Given the description of an element on the screen output the (x, y) to click on. 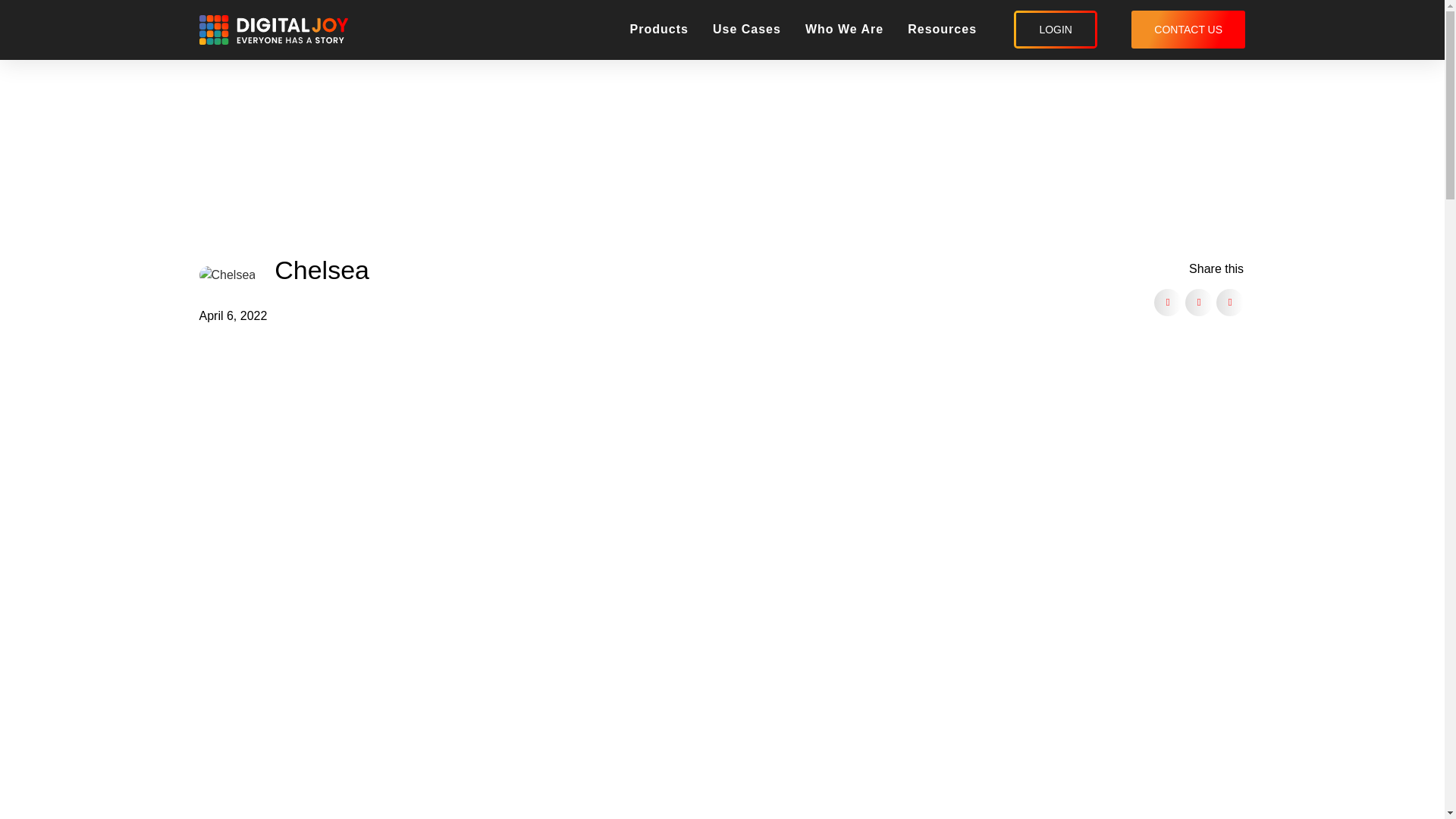
Products (659, 29)
Use Cases (746, 29)
Resources (941, 29)
Who We Are (844, 29)
